Given the description of an element on the screen output the (x, y) to click on. 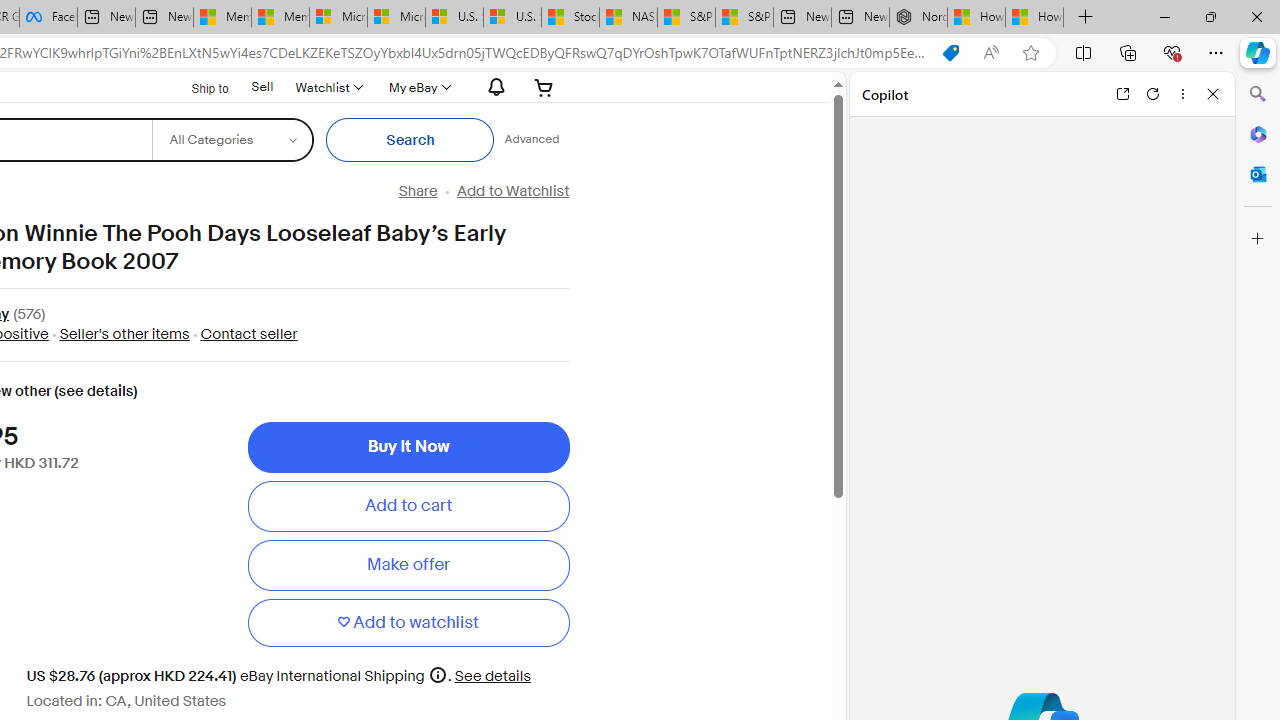
Sell (261, 87)
Share (417, 191)
Add to watchlist (408, 622)
Open link in new tab (1122, 93)
Seller's other items (123, 334)
Microsoft 365 (1258, 133)
Facebook (48, 17)
More information (437, 673)
How to Use a Monitor With Your Closed Laptop (1034, 17)
